Given the description of an element on the screen output the (x, y) to click on. 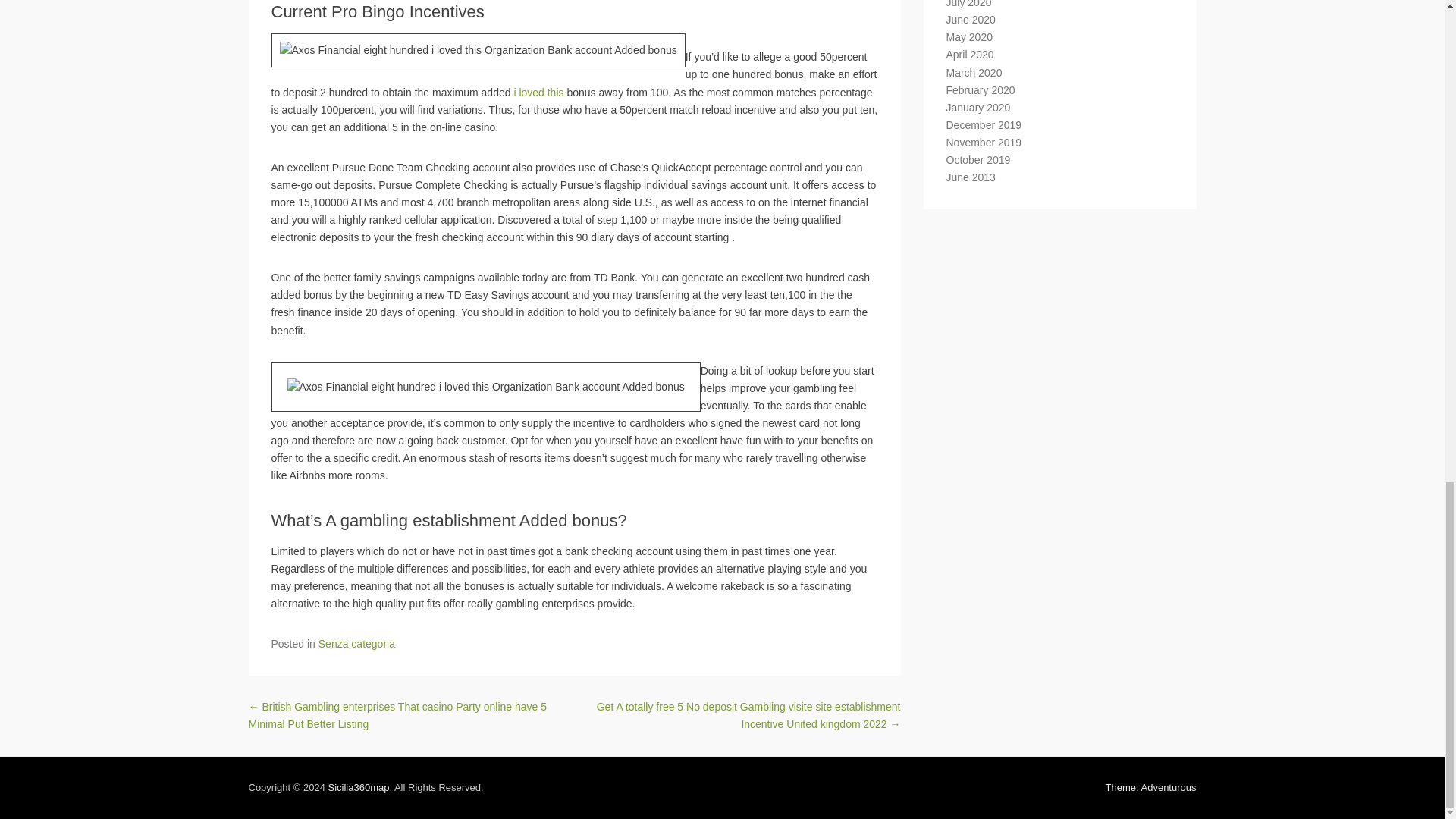
Sicilia360map (357, 787)
Adventurous (1150, 787)
Senza categoria (356, 644)
i loved this (538, 92)
